Given the description of an element on the screen output the (x, y) to click on. 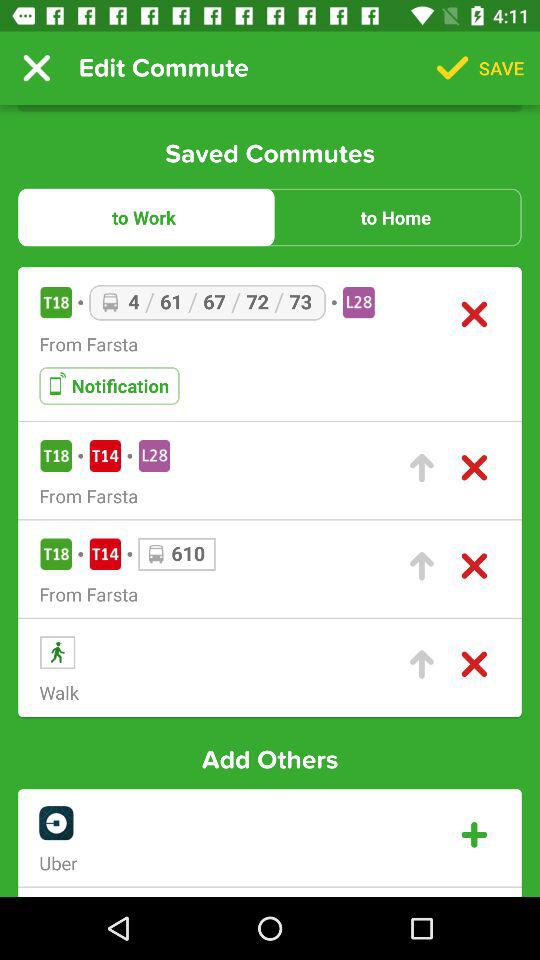
open item below from farsta item (109, 386)
